Given the description of an element on the screen output the (x, y) to click on. 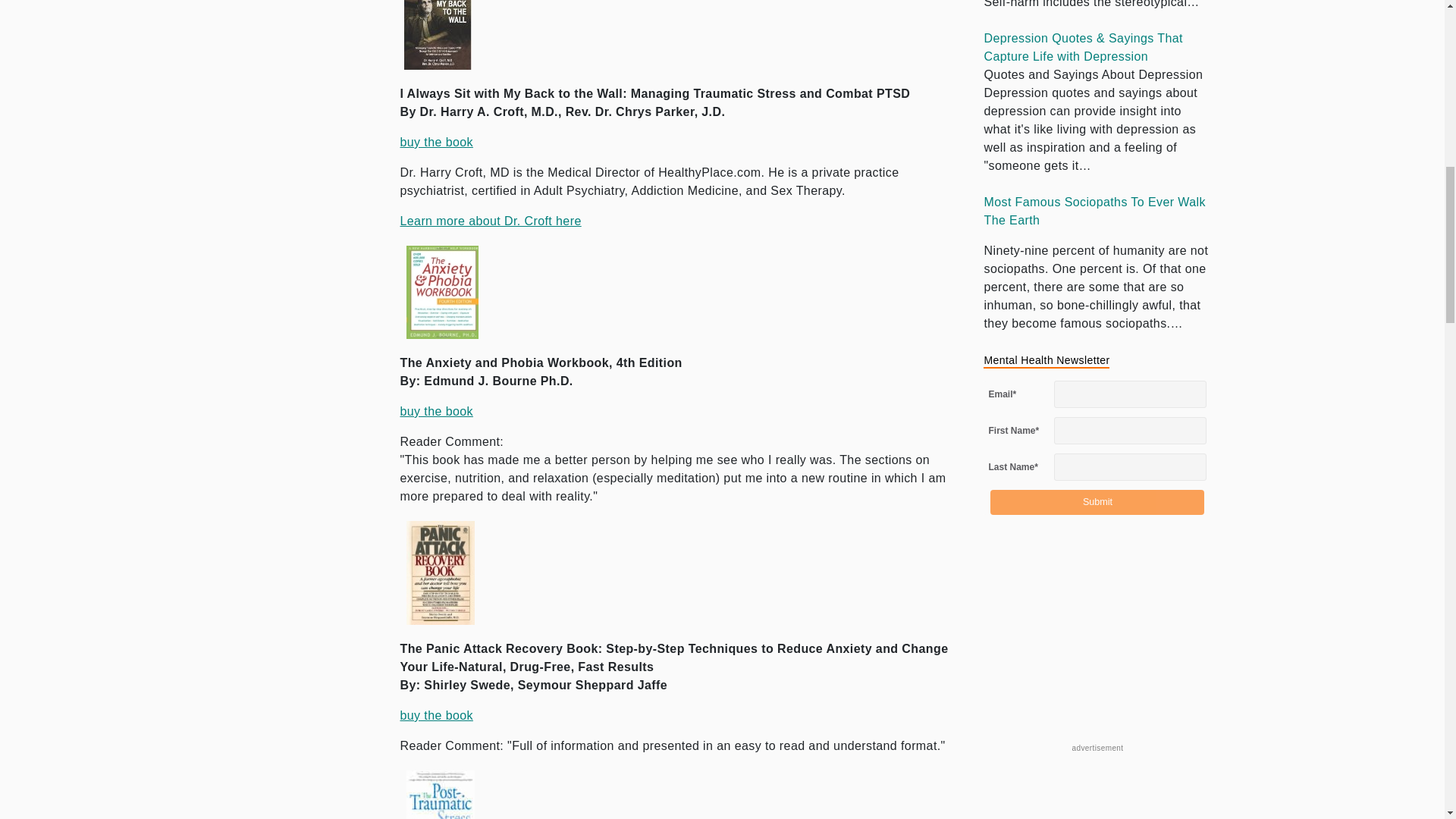
Click to order: Tha Anxiety and Phobia Workbook, 4th Edition (436, 410)
Submit (1097, 502)
Learn more about Dr. Harry Croft (490, 220)
